Given the description of an element on the screen output the (x, y) to click on. 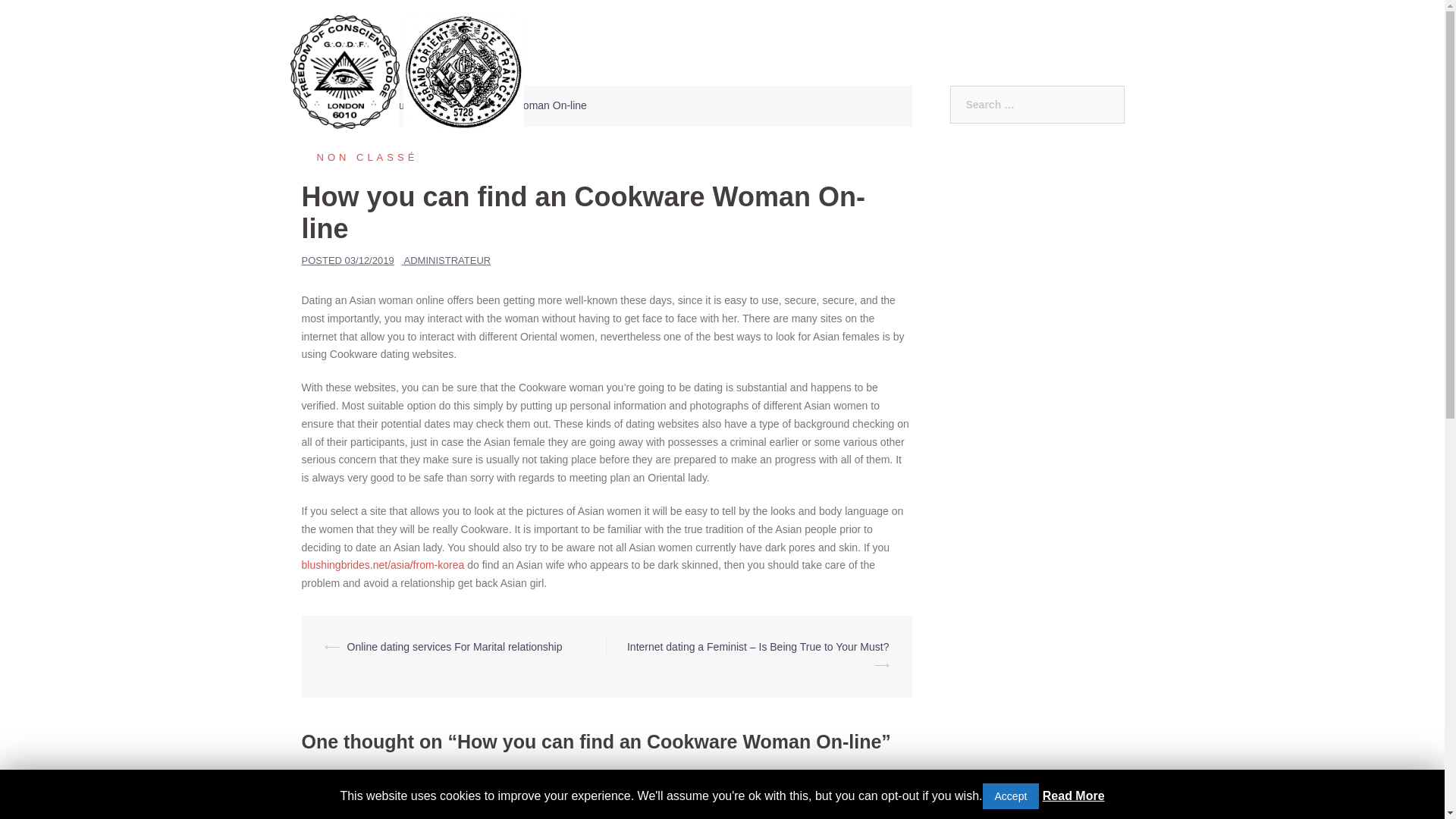
Search (47, 18)
History (878, 72)
ADMINISTRATEUR (448, 260)
About us (772, 72)
Online dating services For Marital relationship (454, 646)
Downloadables (953, 72)
Home (712, 72)
Accueil (332, 105)
Accept (1010, 795)
Members space (1106, 72)
F.A.Q (827, 72)
Read More (1073, 795)
Contact (1028, 72)
Lodge Freedom of Conscience (344, 70)
